Given the description of an element on the screen output the (x, y) to click on. 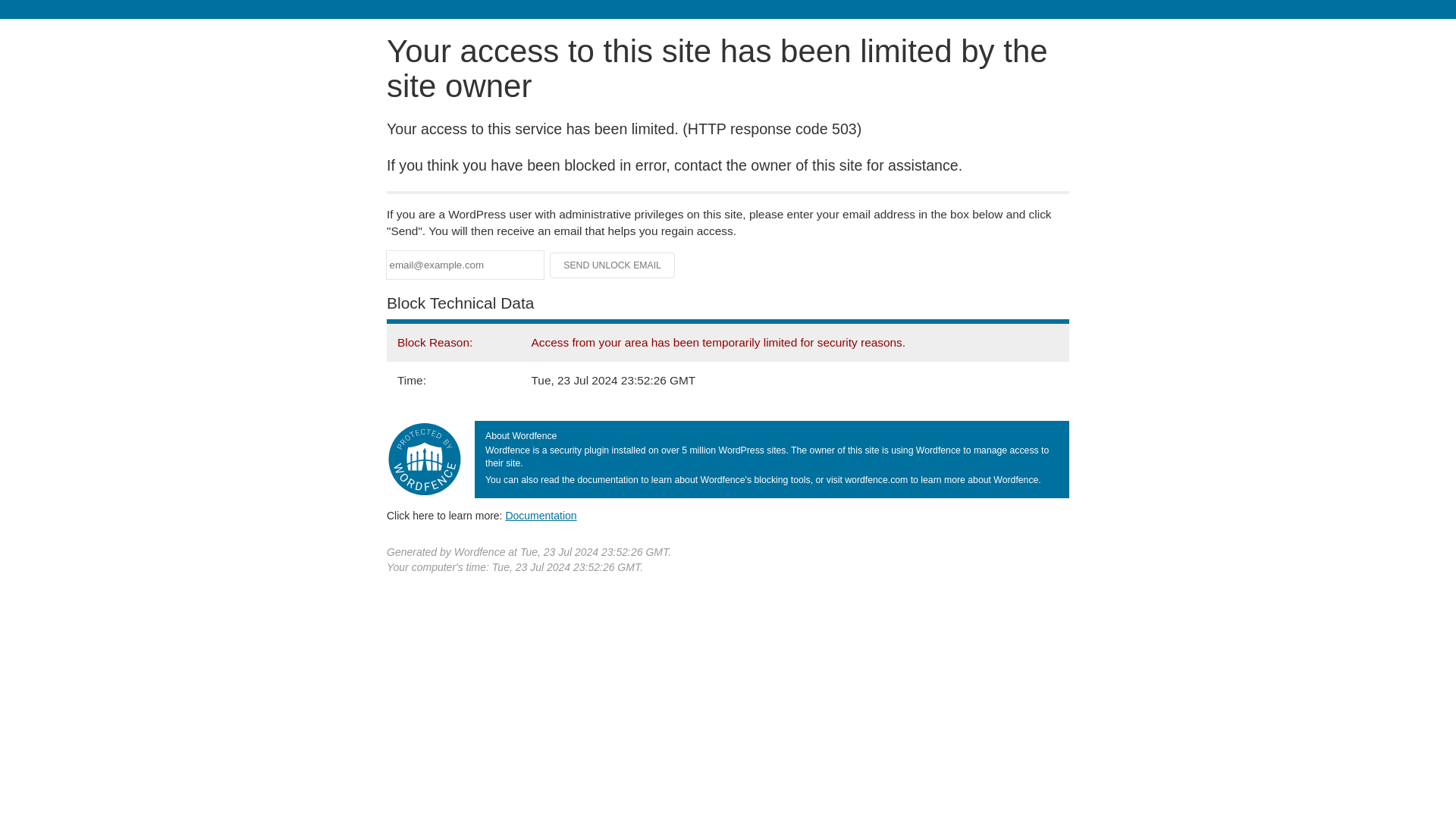
Send Unlock Email (612, 265)
Send Unlock Email (612, 265)
Documentation (540, 515)
